Given the description of an element on the screen output the (x, y) to click on. 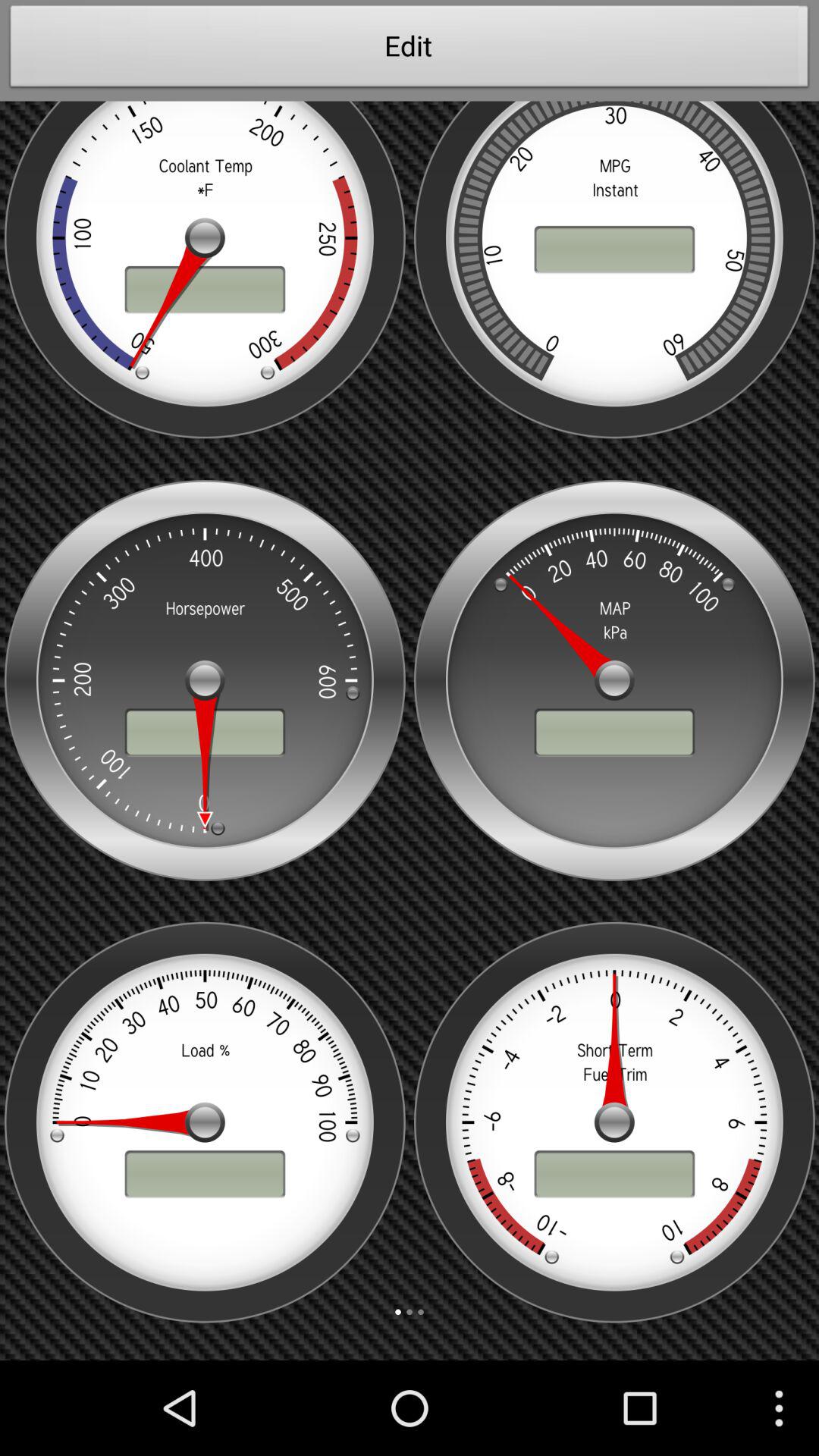
scroll to the edit item (409, 50)
